Given the description of an element on the screen output the (x, y) to click on. 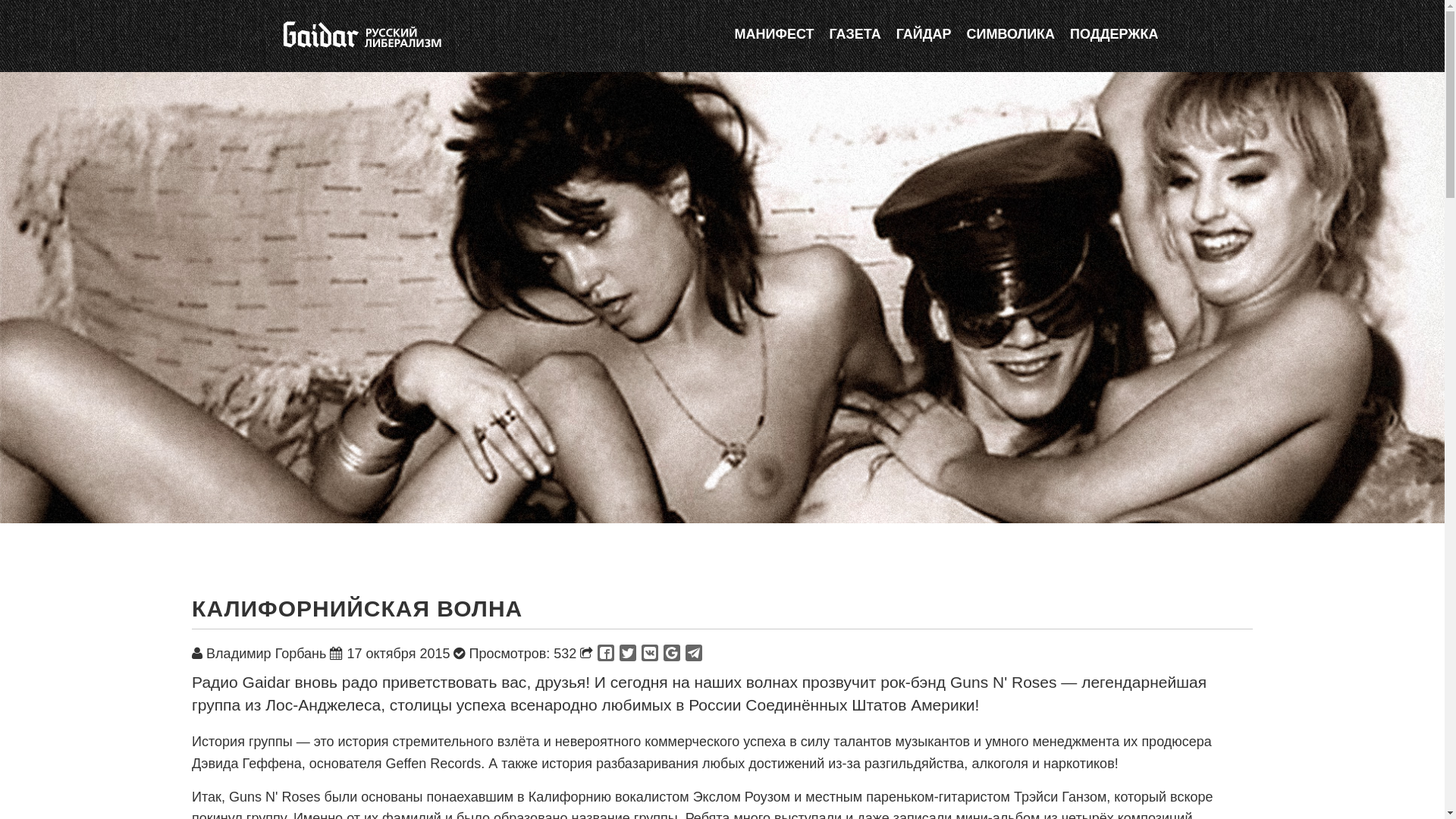
Gaidar Element type: hover (360, 34)
